Given the description of an element on the screen output the (x, y) to click on. 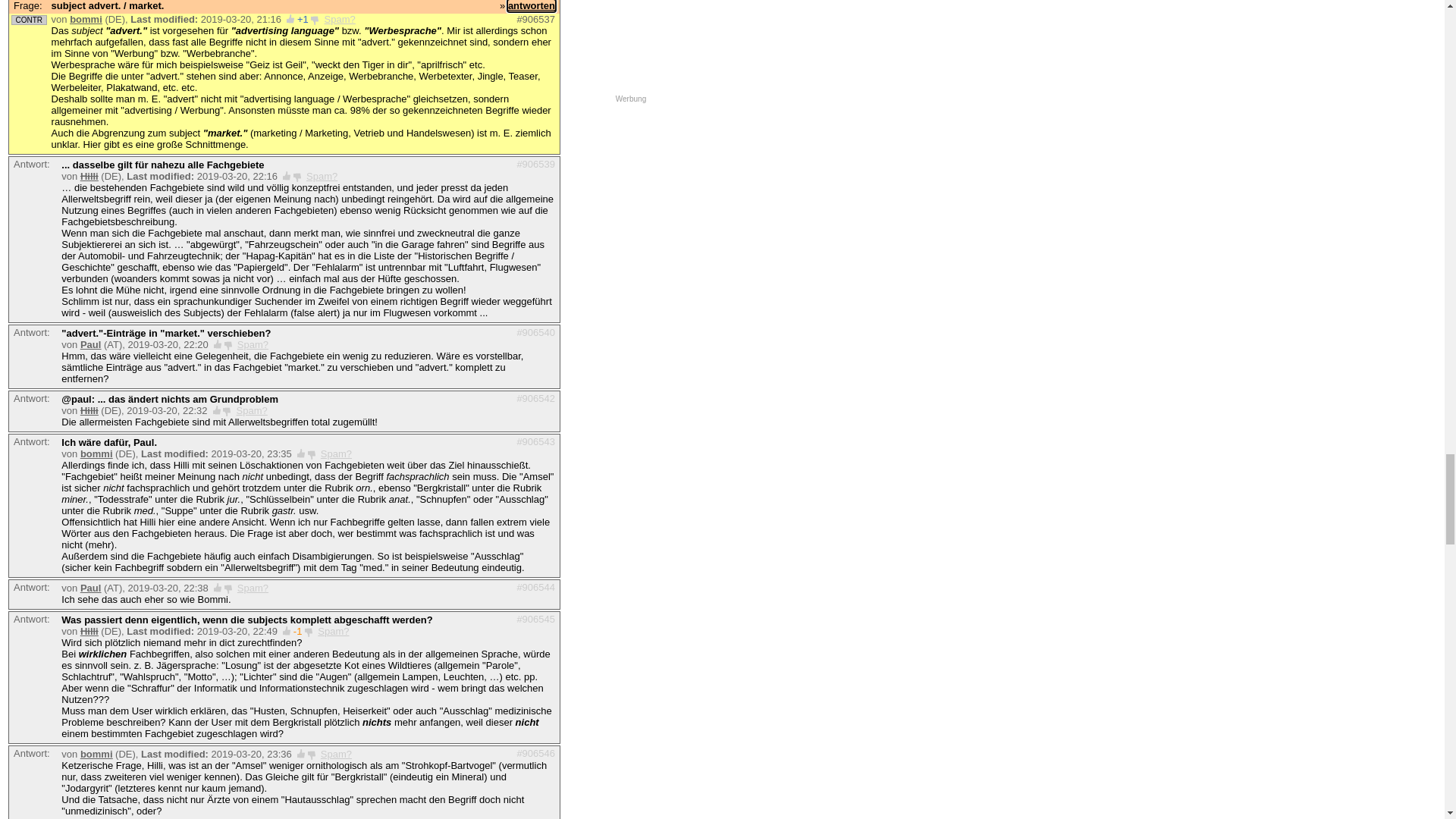
EN > DE Element type: text (28, 540)
Neue Frage stellen Element type: text (328, 240)
NO Element type: text (302, 9)
Mitmachen! Element type: text (398, 110)
Spam? Element type: text (271, 288)
Login Element type: text (481, 110)
RU Element type: text (75, 9)
Spam? Element type: text (272, 739)
Spam? Element type: text (279, 794)
LA Element type: text (971, 9)
PT Element type: text (906, 9)
Linguistic help needed Element type: text (207, 163)
HU Element type: text (675, 9)
EL Element type: text (1079, 9)
#906590 Element type: text (535, 364)
FAQ Element type: text (313, 80)
HR Element type: text (347, 9)
#906623 Element type: text (535, 396)
#906569 Element type: text (535, 737)
Go! Element type: text (105, 241)
HR Element type: text (928, 9)
#906572 Element type: text (535, 792)
Vokabeltrainer Element type: text (181, 110)
Neue Frage Element type: text (403, 127)
Windfall Element type: text (99, 650)
newcallas Element type: text (92, 539)
Home Element type: text (25, 110)
Chat and other topics Element type: text (329, 163)
nach unten Element type: text (77, 493)
Unbeantwortete Element type: text (209, 127)
Wikipedia(EN): Who,_whom%3F Element type: text (398, 377)
Spam? Element type: text (298, 409)
DA Element type: text (391, 9)
dict.cc Element type: text (64, 60)
Richtlinien Element type: text (345, 127)
Optionen Element type: text (243, 80)
FI Element type: text (804, 9)
NO Element type: text (762, 9)
EN Element type: text (14, 9)
TR Element type: text (1057, 9)
SV Element type: text (740, 9)
BG Element type: text (950, 9)
IS Element type: text (54, 9)
SR Element type: text (476, 9)
Alle Sprachen  Element type: text (1397, 9)
Richtlinien Element type: text (256, 240)
FI Element type: text (218, 9)
RO Element type: text (718, 9)
SK Element type: text (158, 9)
on Element type: text (272, 161)
antworten Element type: text (531, 525)
#906566 Element type: text (535, 539)
Catwoman-DE Element type: text (111, 409)
antworten Element type: text (531, 275)
CS Element type: text (369, 9)
RO Element type: text (98, 9)
SK Element type: text (593, 9)
#906588 Element type: text (535, 288)
RU Element type: text (785, 9)
Forum-Suche Element type: text (283, 127)
FR Element type: text (119, 9)
on Element type: text (392, 161)
CS Element type: text (884, 9)
Benutzer Element type: text (305, 110)
IT Element type: text (844, 9)
PL Element type: text (433, 9)
HU Element type: text (238, 9)
Suche Element type: text (211, 240)
Go! Element type: text (177, 241)
Contribute! Element type: text (529, 163)
SV Element type: text (35, 9)
EO Element type: text (992, 9)
DE > EN Element type: text (28, 289)
on Element type: text (148, 161)
PT Element type: text (200, 9)
JamesNPt Element type: text (93, 288)
nach oben Element type: text (31, 493)
SQ Element type: text (824, 9)
EL Element type: text (519, 9)
Windfall Element type: text (99, 739)
BS Element type: text (540, 9)
New Website Element type: text (77, 110)
Windfall Element type: text (99, 366)
SQ Element type: text (499, 9)
PL Element type: text (696, 9)
LA Element type: text (280, 9)
ES Element type: text (260, 9)
BG Element type: text (325, 9)
newcallas Element type: text (103, 794)
on Element type: text (494, 161)
antworten Element type: text (124, 493)
Tipps Element type: text (282, 80)
BS Element type: text (1035, 9)
Suche Element type: text (447, 63)
Forum Element type: text (349, 110)
NL Element type: text (654, 9)
#906568 Element type: text (535, 649)
Dictionary entries Element type: text (440, 163)
NL Element type: text (179, 9)
IS Element type: text (613, 9)
<< Element type: text (532, 144)
Spam? Element type: text (272, 366)
TR Element type: text (412, 9)
English-German Translation Forum Element type: text (130, 201)
ES Element type: text (633, 9)
Fachgebiete Element type: text (249, 110)
IT Element type: text (138, 9)
DA Element type: text (862, 9)
Registrieren Element type: text (528, 110)
FR Element type: text (572, 9)
Alle Fragen Element type: text (141, 127)
SR Element type: text (1015, 9)
X Element type: text (481, 63)
Spam? Element type: text (269, 539)
EO Element type: text (454, 9)
>> Element type: text (549, 144)
Fragen & Antworten Element type: text (59, 127)
About Element type: text (128, 110)
Spam? Element type: text (272, 650)
